Given the description of an element on the screen output the (x, y) to click on. 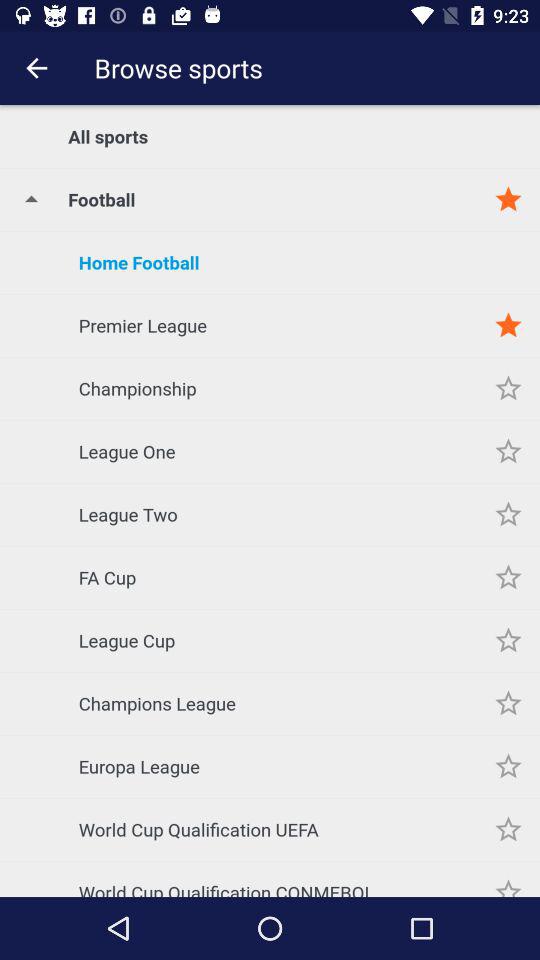
select option (508, 640)
